Given the description of an element on the screen output the (x, y) to click on. 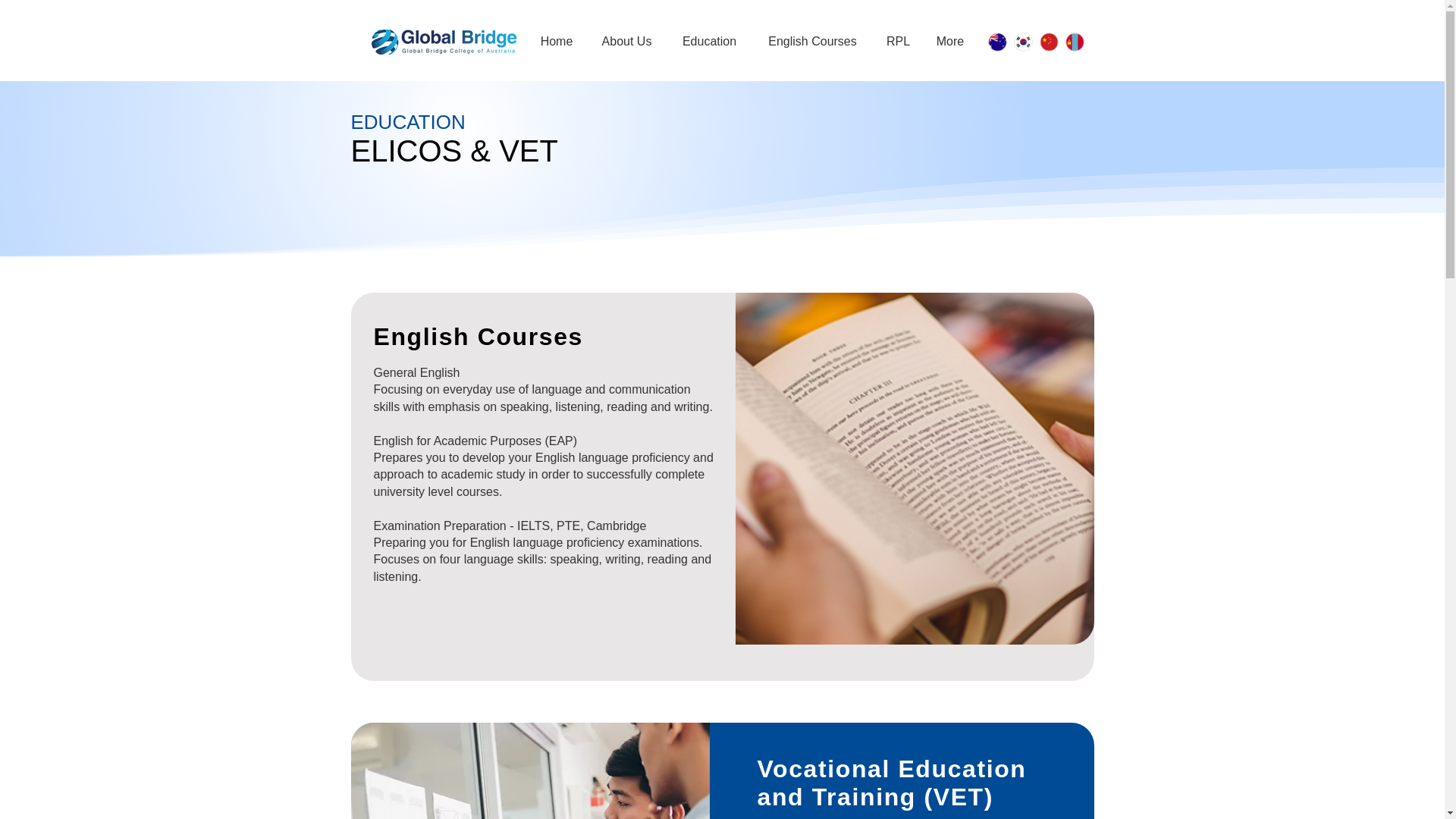
RPL (898, 41)
Home (555, 41)
About Us (626, 41)
